Given the description of an element on the screen output the (x, y) to click on. 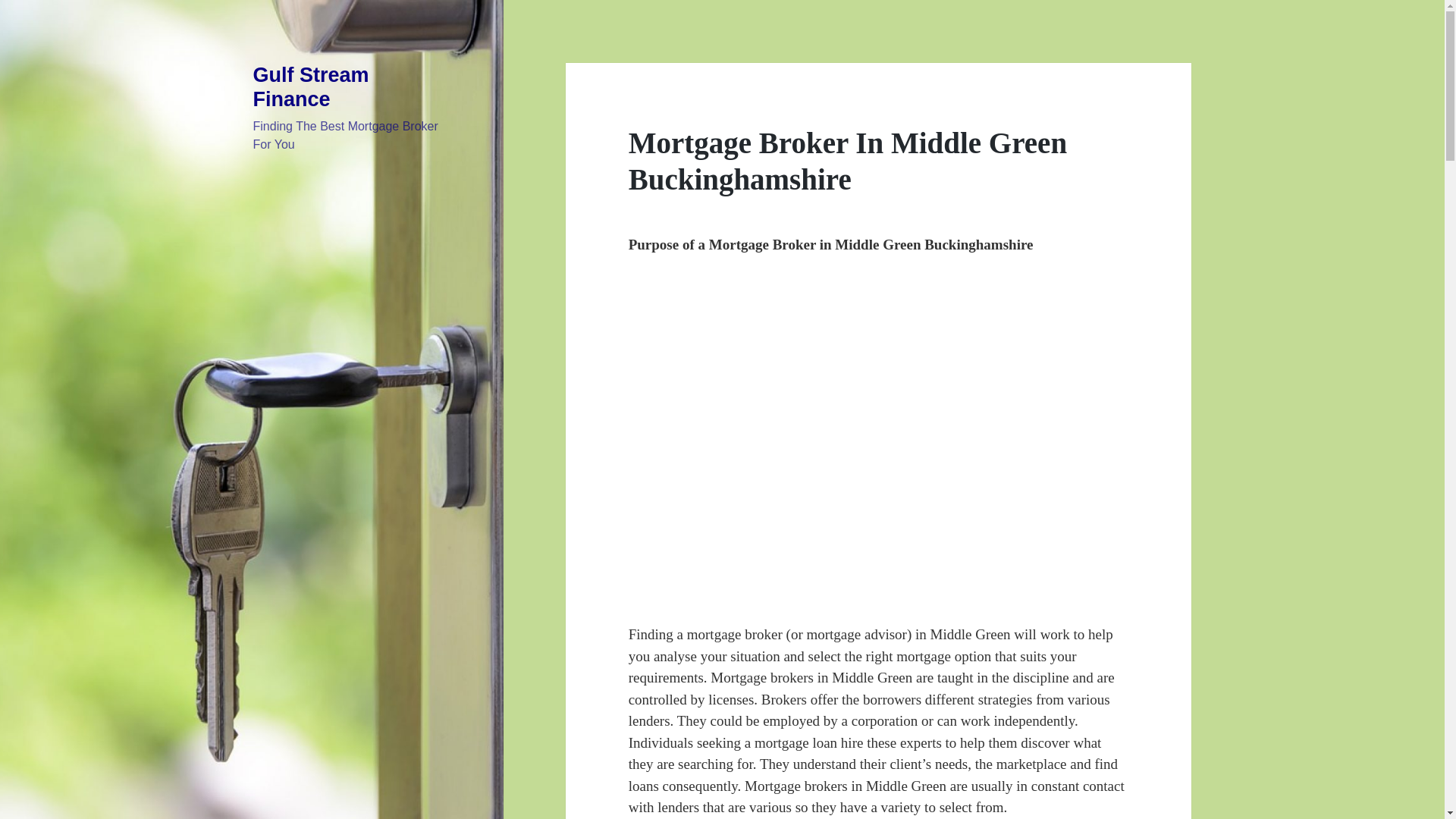
Gulf Stream Finance (311, 86)
